Given the description of an element on the screen output the (x, y) to click on. 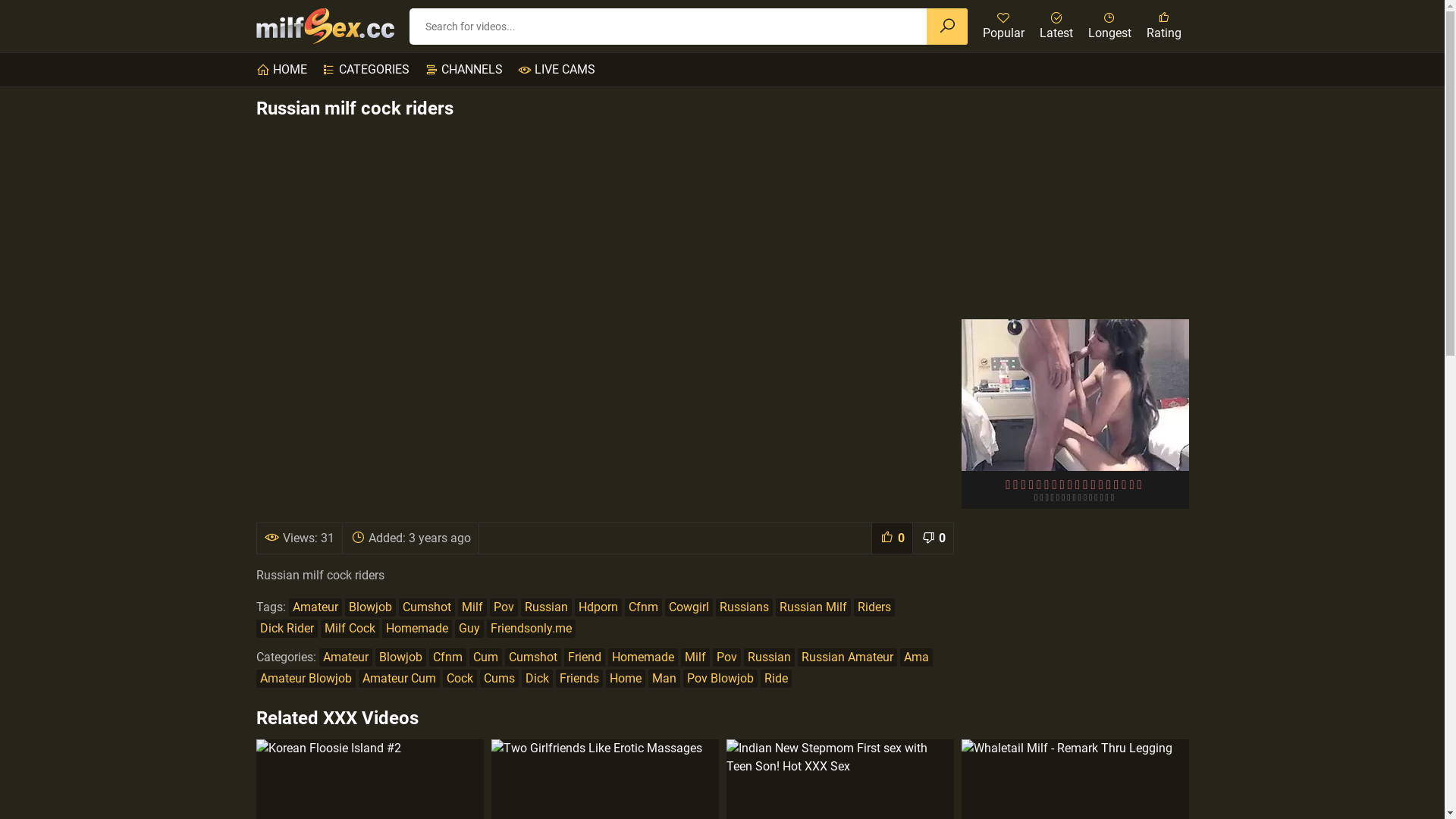
Homemade Element type: text (642, 656)
CATEGORIES Element type: text (364, 69)
Man Element type: text (663, 677)
Pov Blowjob Element type: text (719, 677)
Hdporn Element type: text (597, 606)
Pov Element type: text (503, 606)
Cfnm Element type: text (447, 656)
Cum Element type: text (484, 656)
Milf Element type: text (694, 656)
Cowgirl Element type: text (688, 606)
Blowjob Element type: text (399, 656)
HOME Element type: text (281, 69)
Homemade Element type: text (416, 627)
Russian Milf Element type: text (812, 606)
Guy Element type: text (469, 627)
Pov Element type: text (726, 656)
LIVE CAMS Element type: text (555, 69)
Friendsonly.me Element type: text (530, 627)
Cums Element type: text (498, 677)
Friend Element type: text (584, 656)
Blowjob Element type: text (369, 606)
Ama Element type: text (915, 656)
Milf Element type: text (472, 606)
Riders Element type: text (873, 606)
0 Element type: text (890, 538)
Russians Element type: text (743, 606)
Dick Element type: text (536, 677)
CHANNELS Element type: text (463, 69)
Dick Rider Element type: text (286, 627)
Friends Element type: text (578, 677)
Russian Amateur Element type: text (847, 656)
Latest Element type: text (1055, 26)
Cumshot Element type: text (426, 606)
Home Element type: text (624, 677)
Amateur Element type: text (314, 606)
Popular Element type: text (1003, 26)
Ride Element type: text (774, 677)
Cock Element type: text (459, 677)
Rating Element type: text (1163, 26)
Cumshot Element type: text (533, 656)
Russian Element type: text (545, 606)
Amateur Blowjob Element type: text (305, 677)
0 Element type: text (931, 538)
Longest Element type: text (1108, 26)
Milf Cock Element type: text (349, 627)
Amateur Element type: text (344, 656)
Russian Element type: text (768, 656)
Cfnm Element type: text (643, 606)
Amateur Cum Element type: text (398, 677)
